Given the description of an element on the screen output the (x, y) to click on. 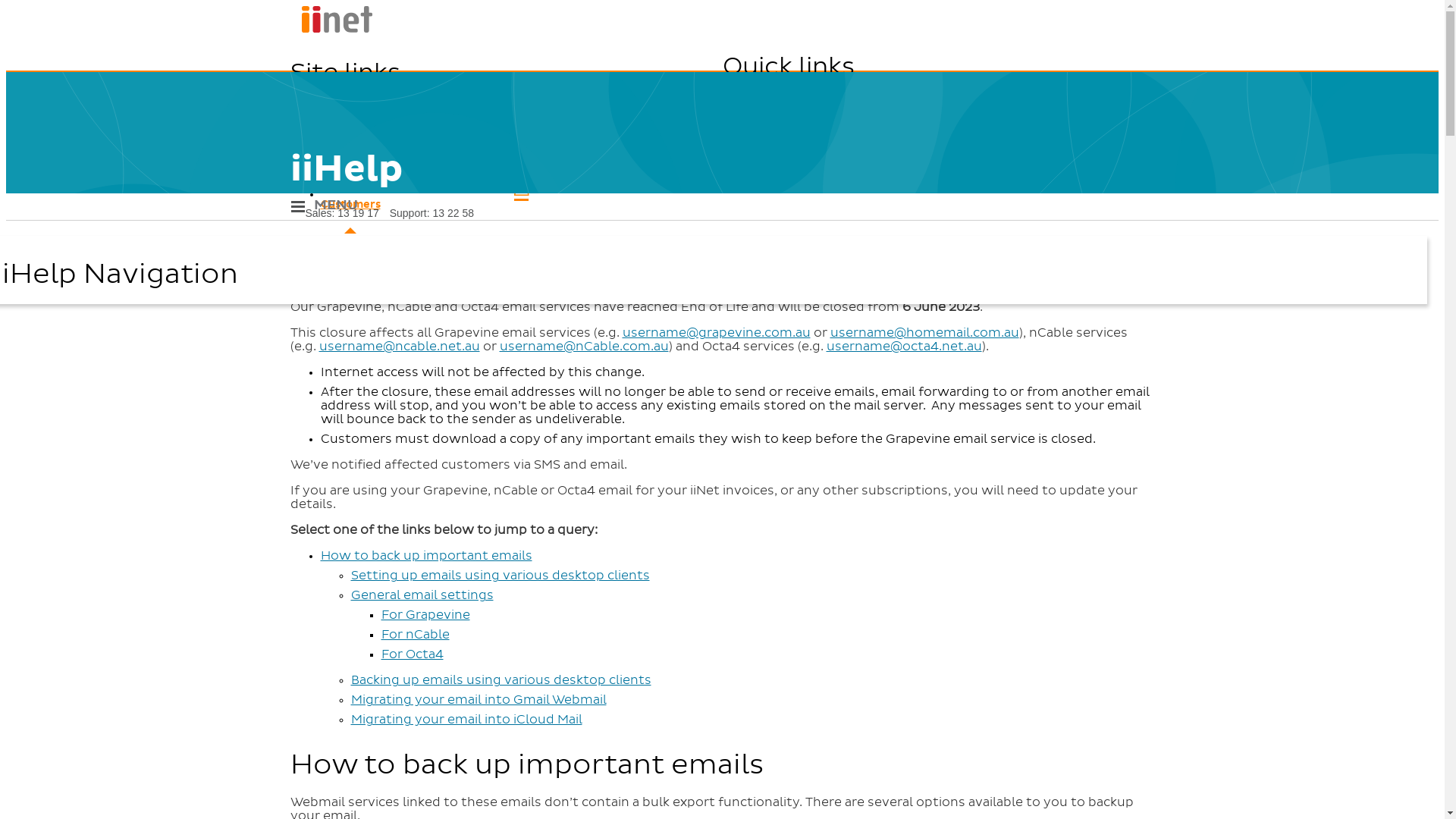
Skip to main content Element type: text (722, 7)
General email settings Element type: text (421, 595)
Migrating your email into Gmail Webmail Element type: text (477, 699)
For Octa4 Element type: text (411, 654)
Customers Element type: text (520, 192)
Toolbox Element type: text (1104, 143)
username@grapevine.com.au Element type: text (715, 332)
How to back up important emails Element type: text (425, 555)
username@homemail.com.au Element type: text (923, 332)
For nCable Element type: text (414, 634)
Backing up emails using various desktop clients Element type: text (500, 680)
For Grapevine Element type: text (424, 614)
Migrating your email into iCloud Mail Element type: text (465, 719)
Home Element type: hover (330, 29)
username@octa4.net.au Element type: text (904, 346)
Webmail Element type: text (1108, 117)
Business Element type: text (520, 154)
username@ncable.net.au Element type: text (398, 346)
username@nCable.com.au Element type: text (583, 346)
Residential Element type: text (520, 117)
Setting up emails using various desktop clients Element type: text (499, 575)
